Given the description of an element on the screen output the (x, y) to click on. 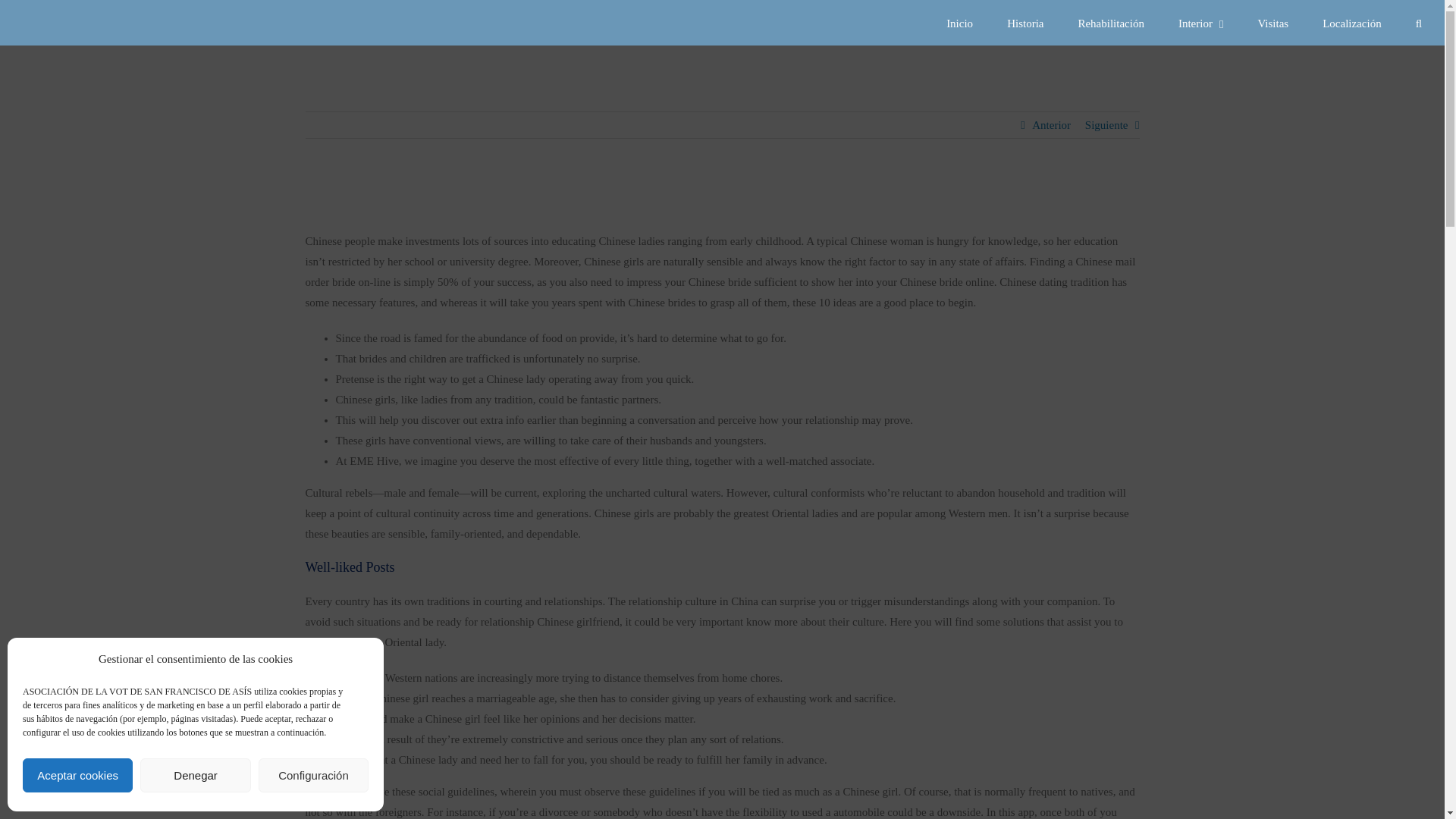
Buscar (1418, 22)
Inicio (959, 22)
Interior (1200, 22)
Visitas (1272, 22)
Historia (1025, 22)
Aceptar cookies (77, 775)
Denegar (194, 775)
